Given the description of an element on the screen output the (x, y) to click on. 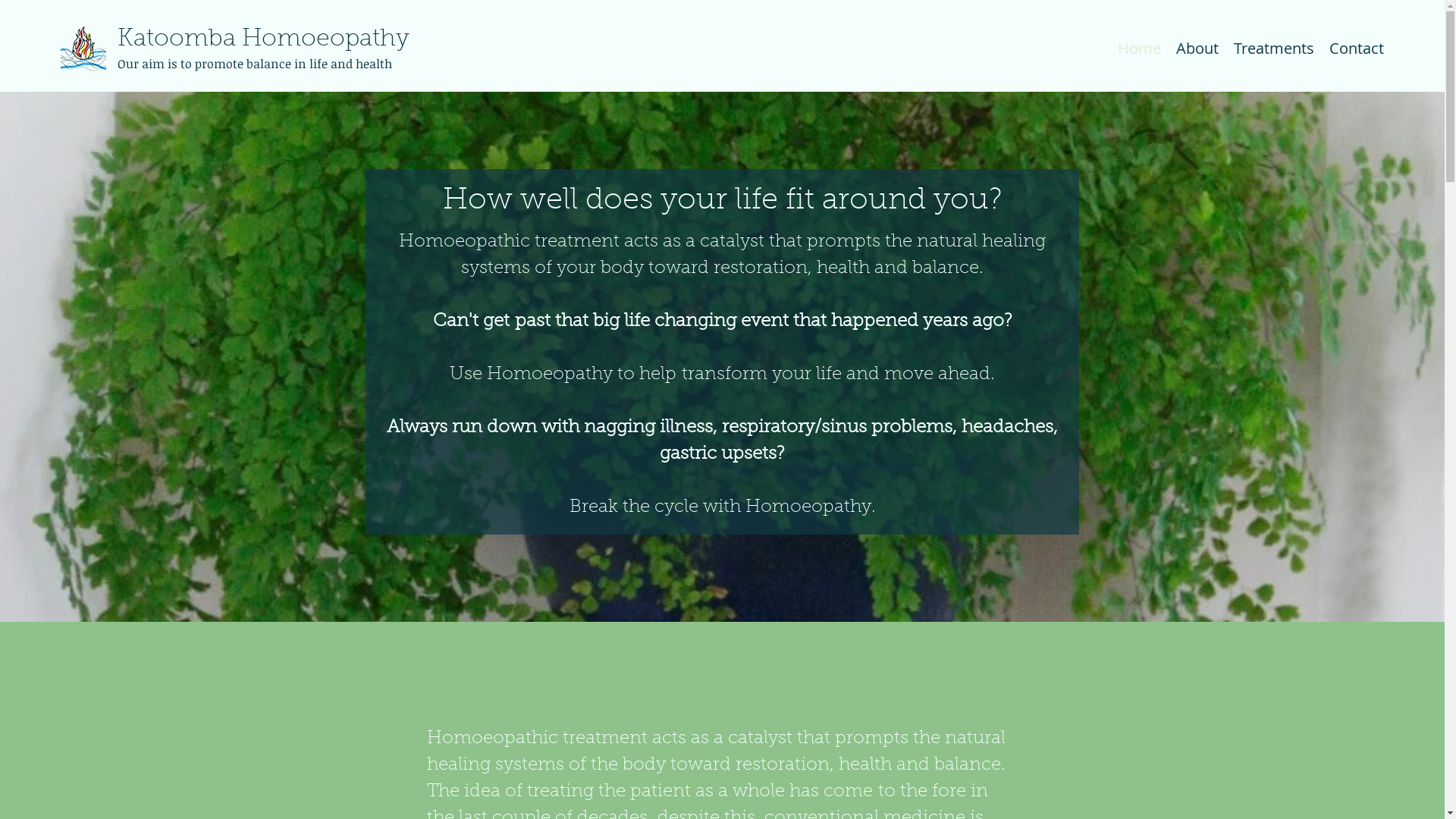
Katoomba Homoeopathy Element type: text (263, 39)
Home Element type: text (1139, 48)
Contact Element type: text (1356, 48)
About Element type: text (1197, 48)
Treatments Element type: text (1273, 48)
